Given the description of an element on the screen output the (x, y) to click on. 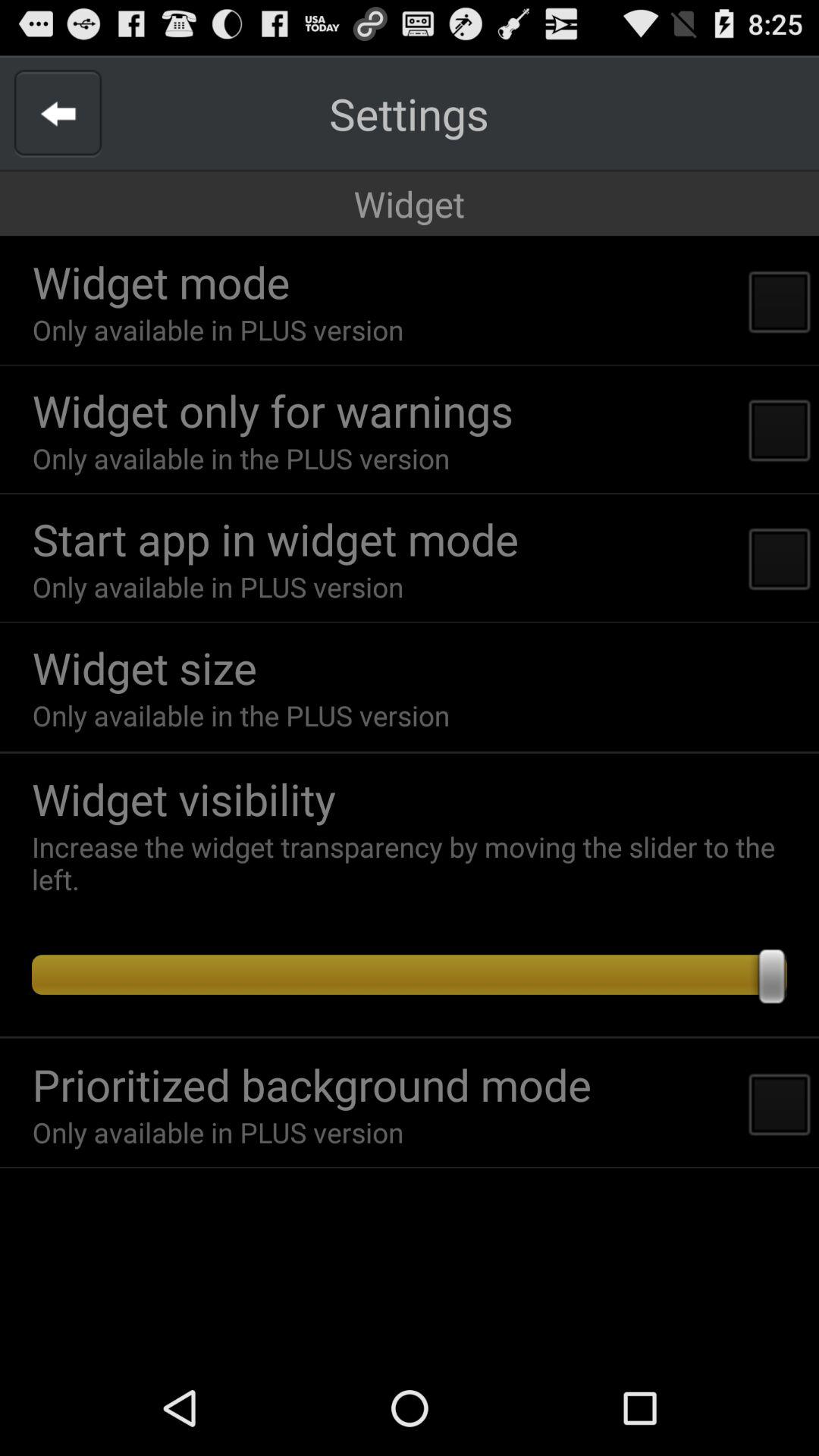
tap item below the only available in app (144, 667)
